Given the description of an element on the screen output the (x, y) to click on. 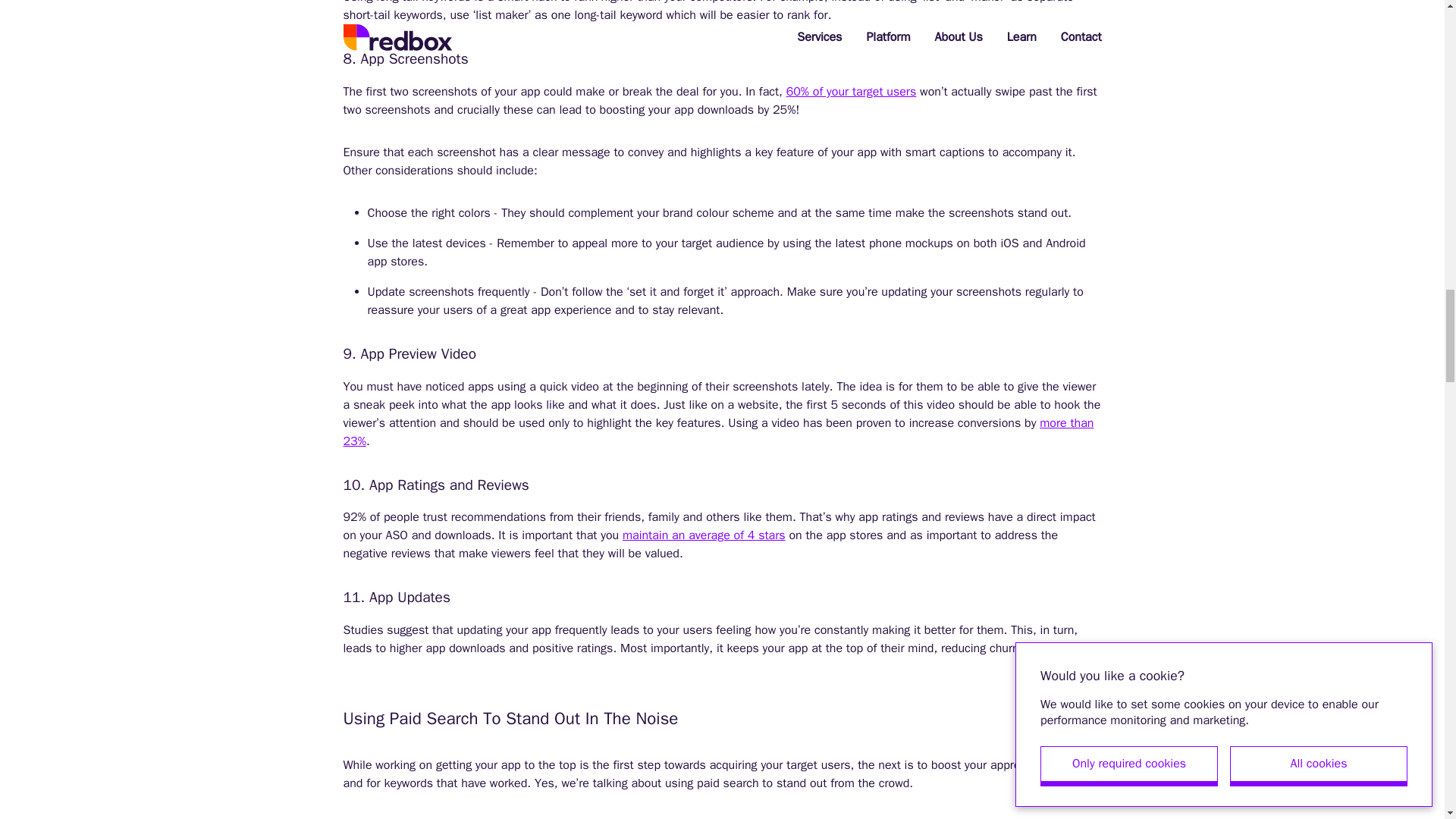
maintain an average of 4 stars (704, 534)
